Given the description of an element on the screen output the (x, y) to click on. 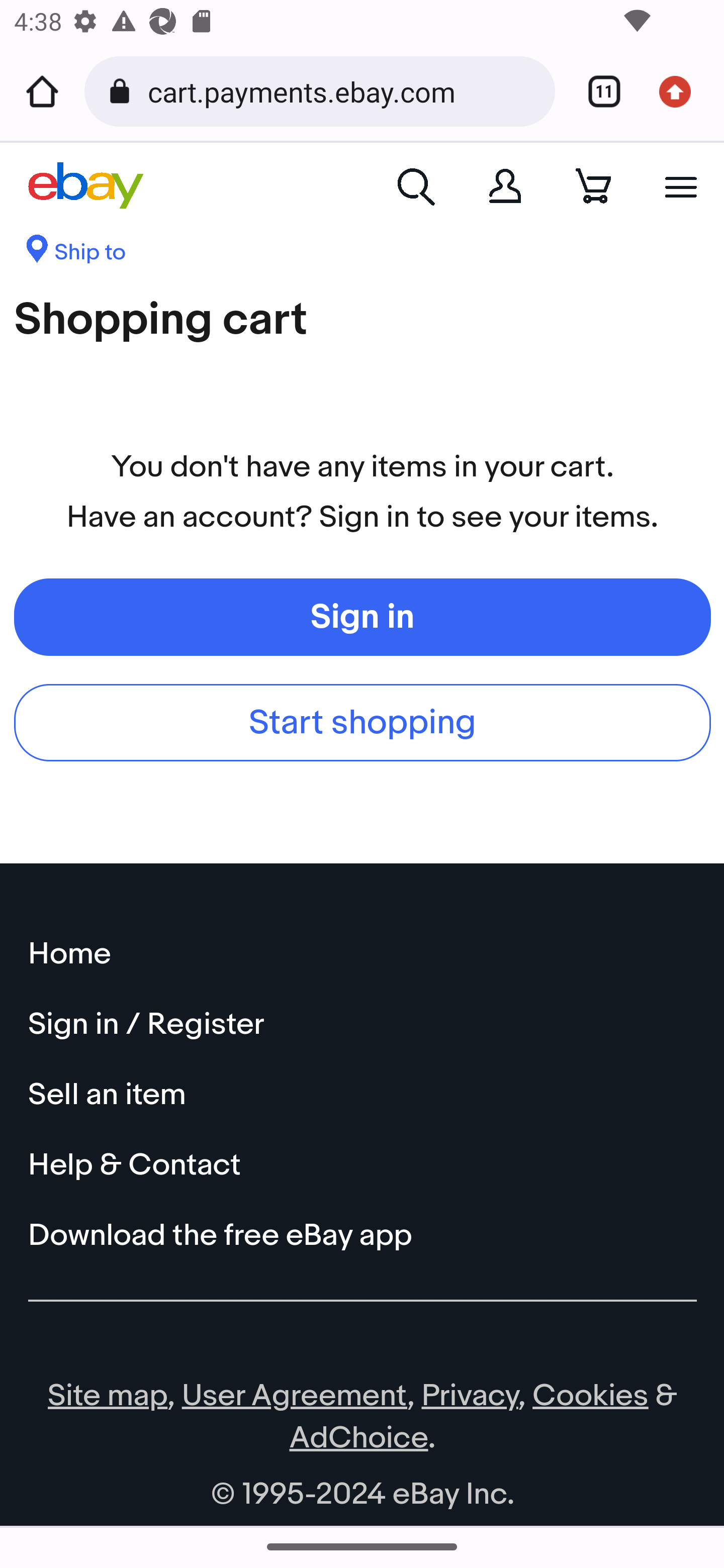
Home (42, 91)
Connection is secure (122, 91)
Switch or close tabs (597, 91)
Update available. More options (681, 91)
cart.payments.ebay.com (343, 90)
Open Menu (680, 186)
Search eBay (416, 185)
My eBay (504, 185)
Your shopping cart is empty (593, 185)
eBay Home (86, 186)
Ship to  (75, 254)
Sign in (362, 616)
Start shopping (362, 722)
Home (363, 953)
Sign in / Register (363, 1023)
Sell an item (363, 1094)
Help & Contact (363, 1164)
Download the free eBay app (363, 1235)
Site map (107, 1395)
User Agreement (294, 1395)
Privacy (469, 1395)
Cookies (590, 1395)
AdChoice (358, 1438)
